Given the description of an element on the screen output the (x, y) to click on. 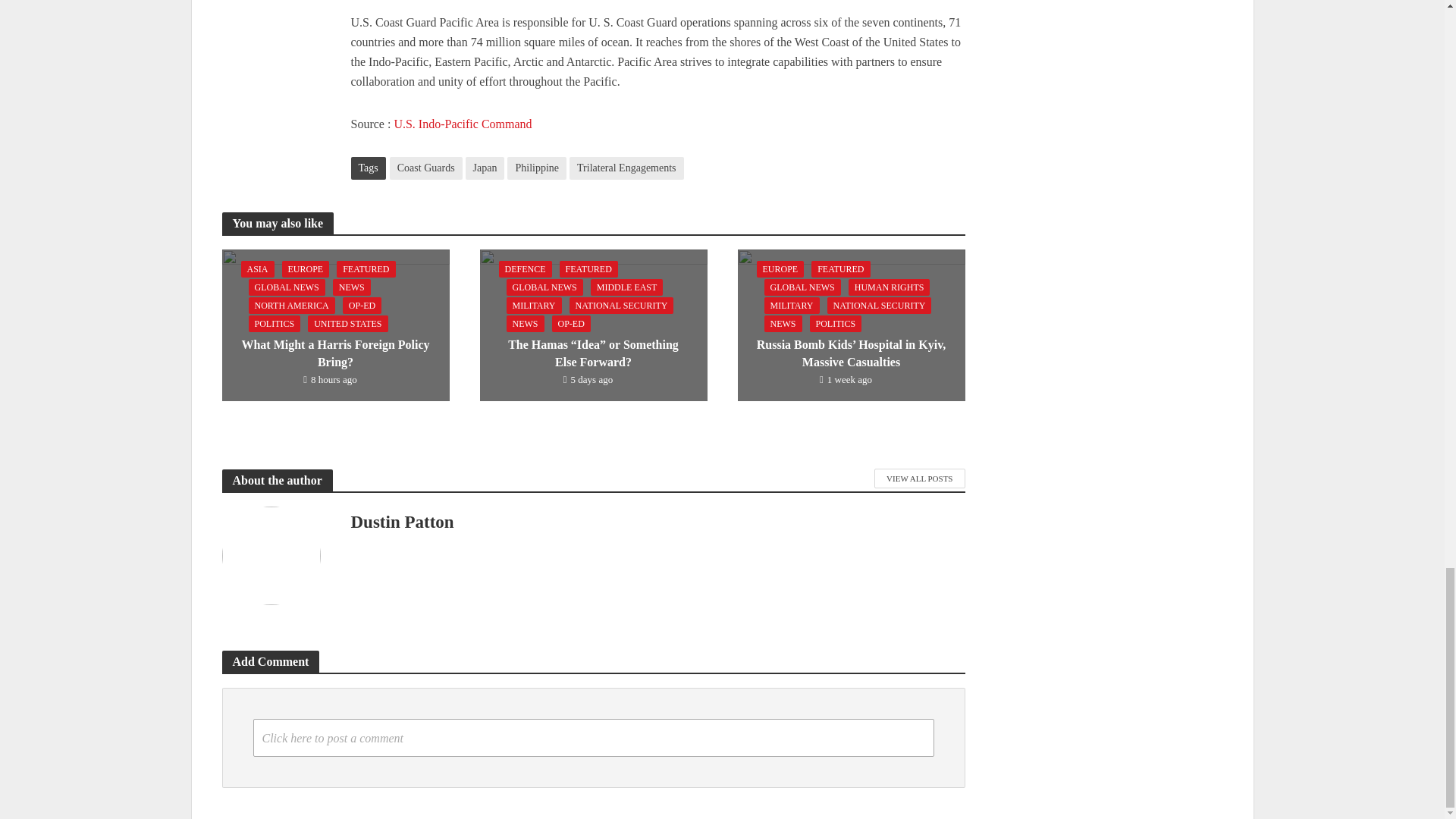
What Might a Harris Foreign Policy Bring? (334, 323)
